Given the description of an element on the screen output the (x, y) to click on. 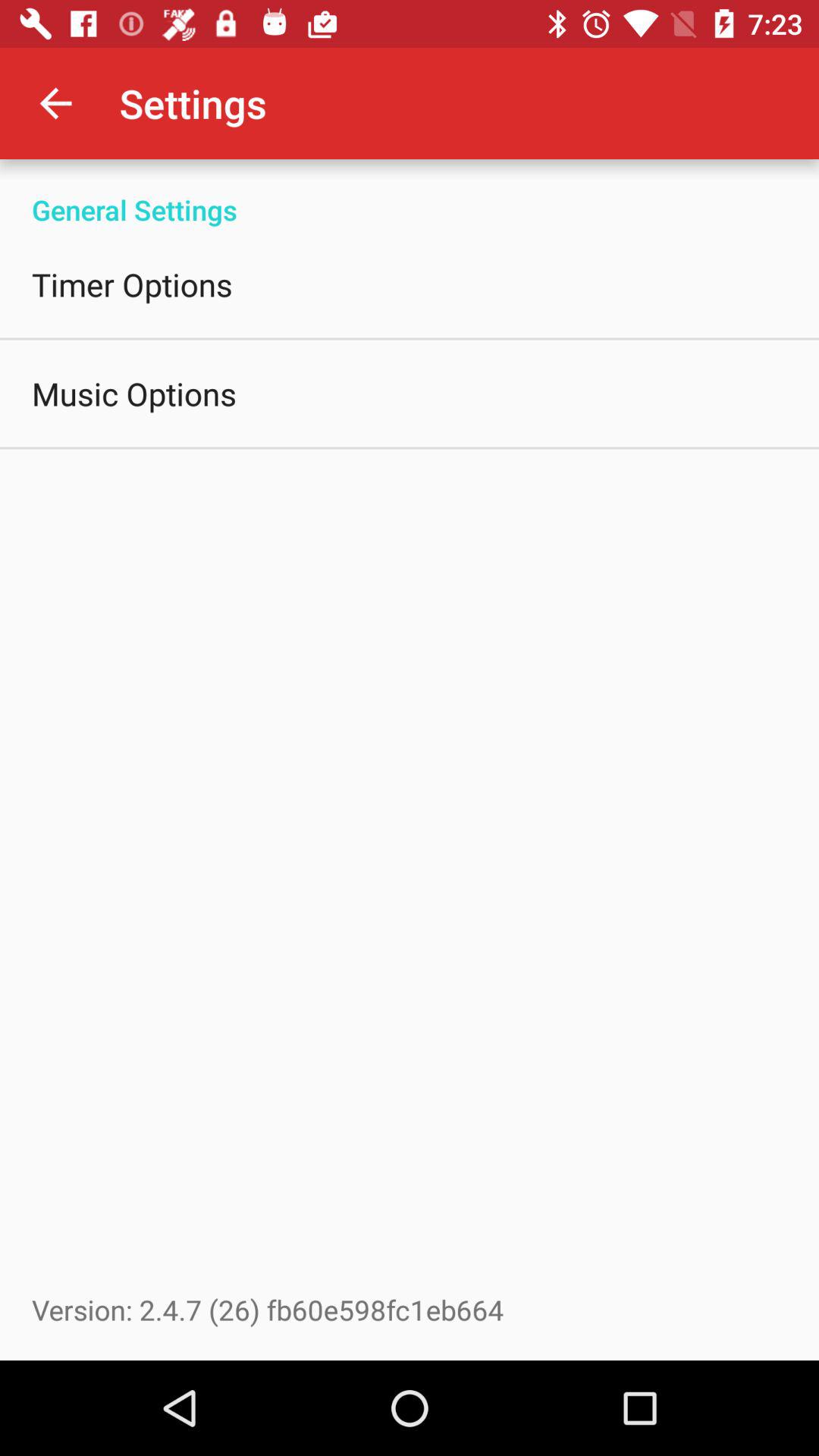
open timer options (131, 283)
